Given the description of an element on the screen output the (x, y) to click on. 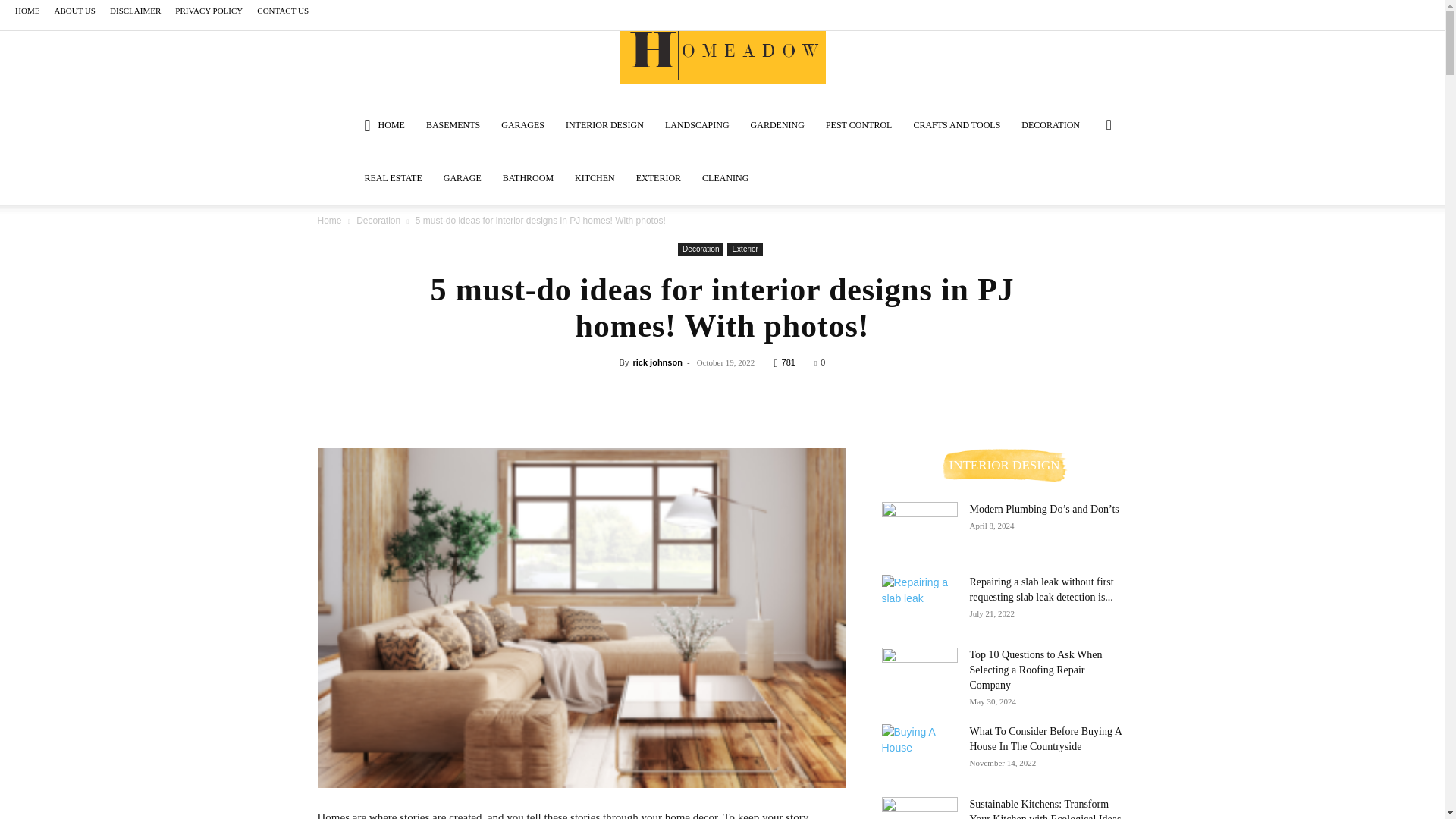
ABOUT US (74, 10)
PRIVACY POLICY (208, 10)
BASEMENTS (452, 124)
PEST CONTROL (858, 124)
HOME (26, 10)
CONTACT US (282, 10)
DISCLAIMER (135, 10)
GARDENING (777, 124)
GARAGES (522, 124)
